Given the description of an element on the screen output the (x, y) to click on. 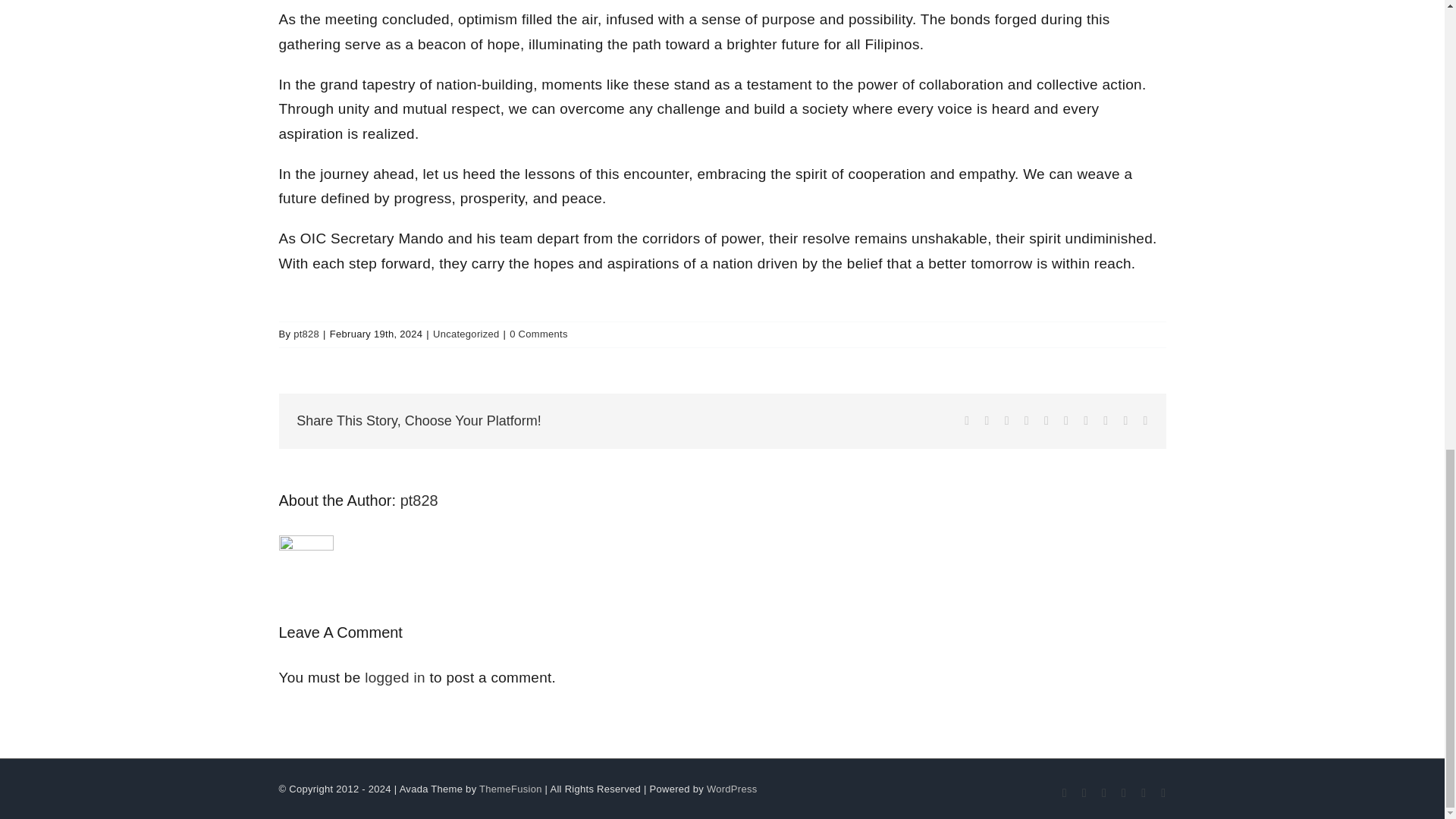
pt828 (419, 500)
0 Comments (538, 333)
Posts by pt828 (419, 500)
pt828 (306, 333)
ThemeFusion (510, 788)
Uncategorized (465, 333)
Posts by pt828 (306, 333)
WordPress (731, 788)
logged in (395, 677)
